Given the description of an element on the screen output the (x, y) to click on. 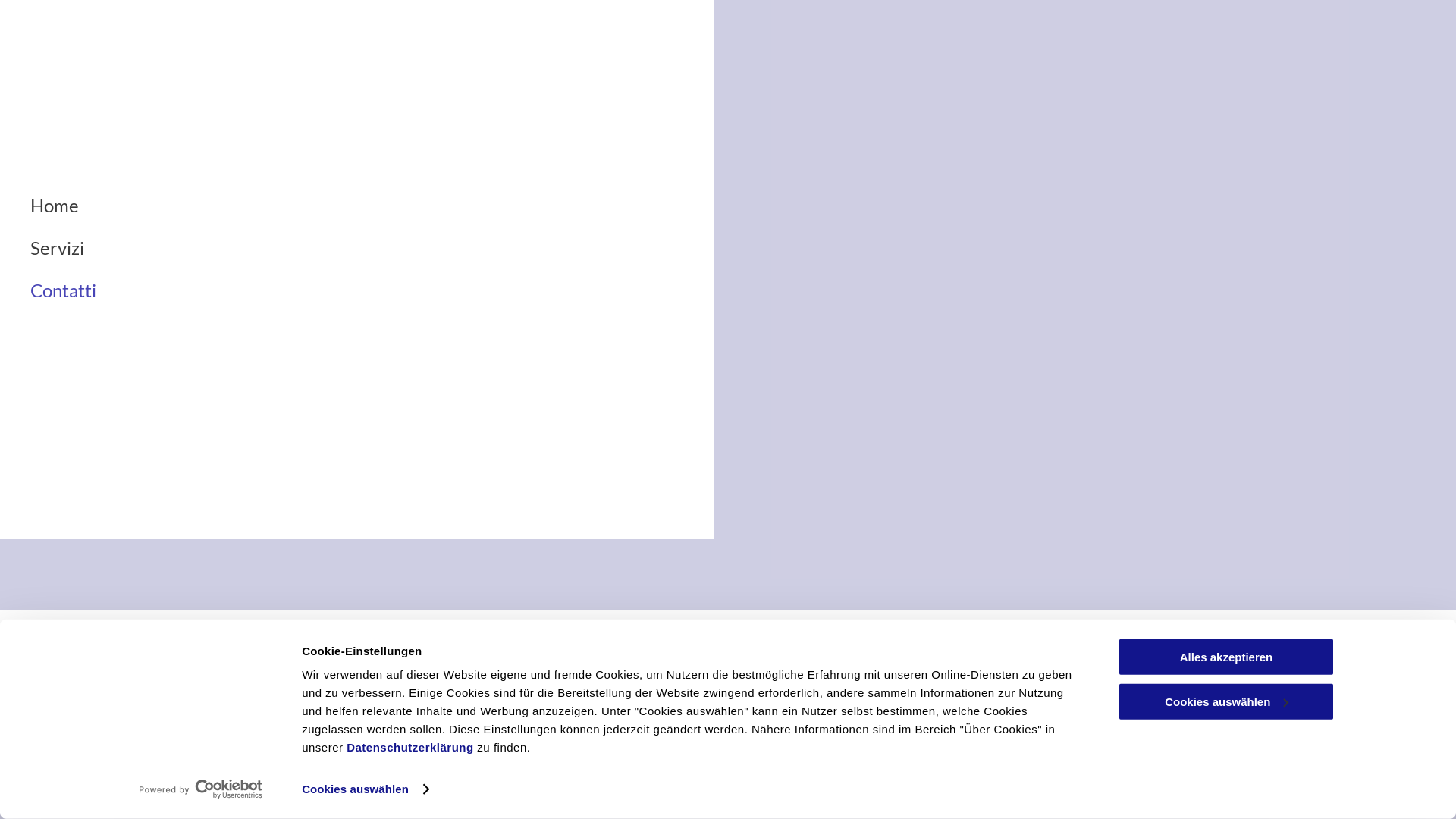
Home Element type: text (1253, 725)
Servizi Element type: text (386, 247)
Alles akzeptieren Element type: text (1225, 656)
Home Element type: text (386, 205)
Contatti Element type: text (1399, 725)
Contatti Element type: text (386, 290)
Servizi Element type: text (1323, 725)
